Given the description of an element on the screen output the (x, y) to click on. 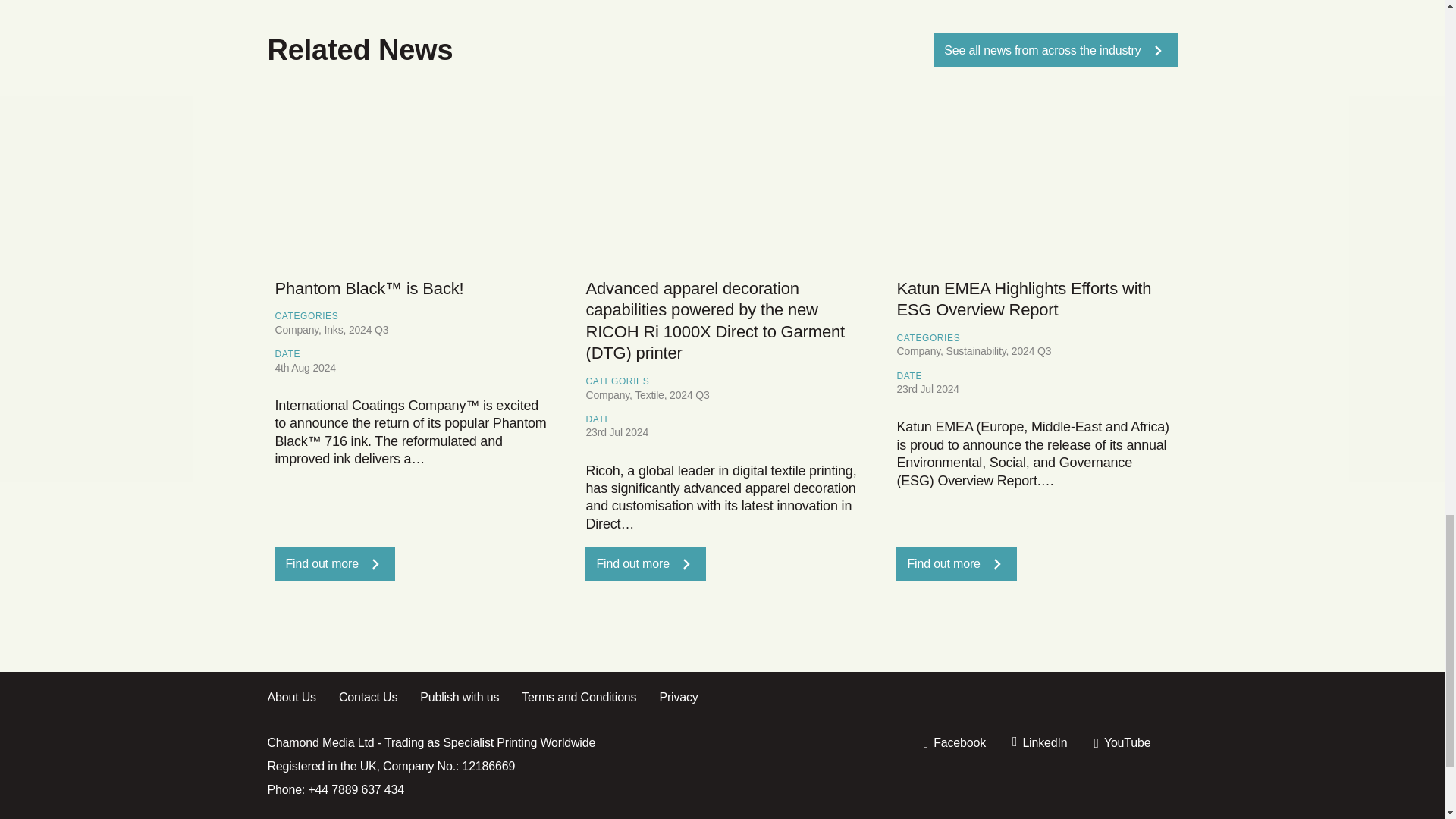
See all news from across the industry (1054, 50)
LinkedIn (1039, 743)
Privacy (689, 698)
About Us (301, 698)
Terms and Conditions (590, 698)
Publish with us (470, 698)
Contact Us (379, 698)
Youtube (1121, 743)
Facebook (954, 743)
